Given the description of an element on the screen output the (x, y) to click on. 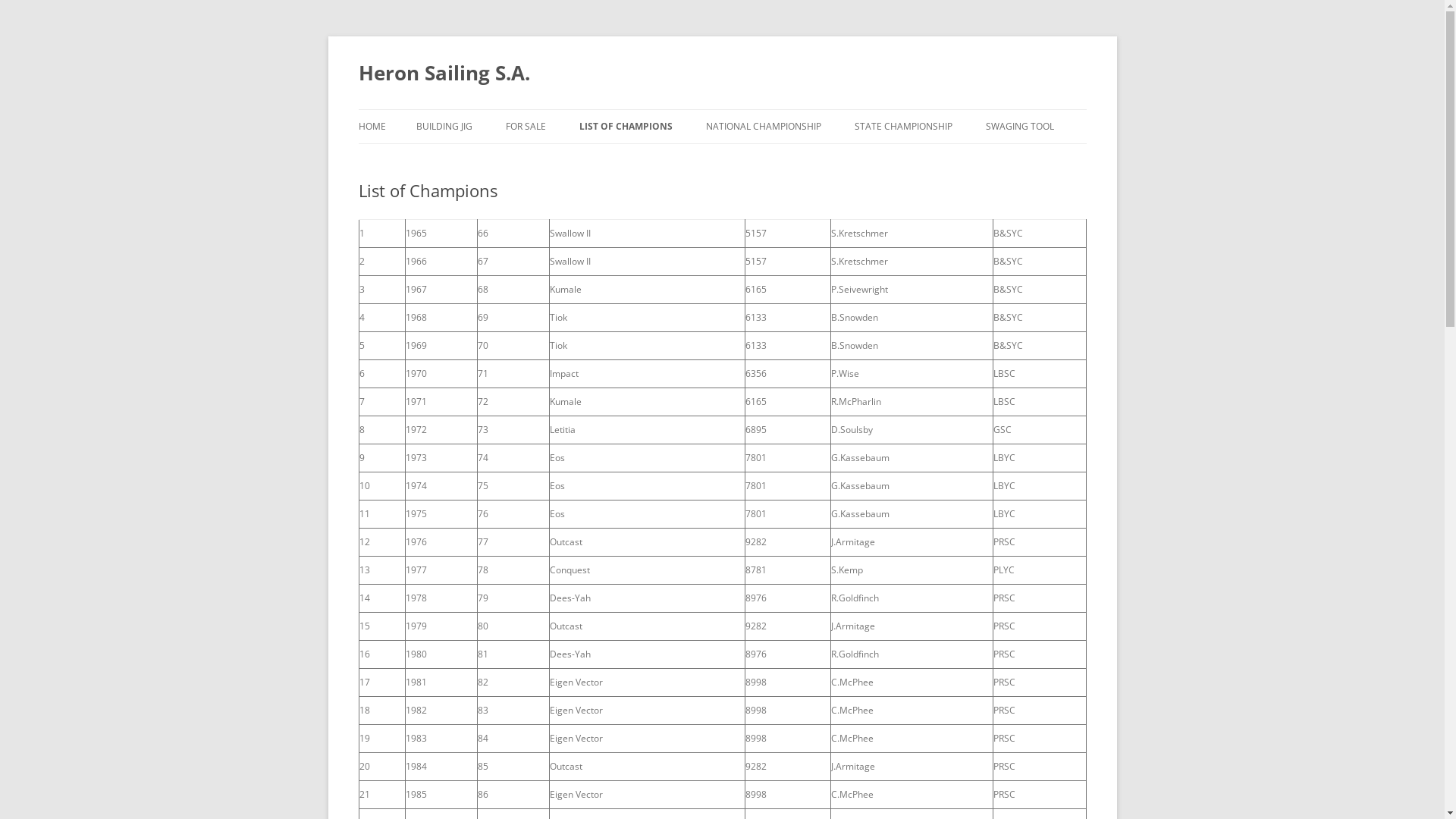
LIST OF CHAMPIONS Element type: text (625, 126)
Skip to content Element type: text (721, 109)
NATIONAL CHAMPIONSHIP Element type: text (762, 126)
BUILDING JIG Element type: text (443, 126)
Heron Sailing S.A. Element type: text (443, 72)
HOME Element type: text (371, 126)
SWAGING TOOL Element type: text (1019, 126)
FOR SALE Element type: text (525, 126)
STATE CHAMPIONSHIP Element type: text (902, 126)
